Given the description of an element on the screen output the (x, y) to click on. 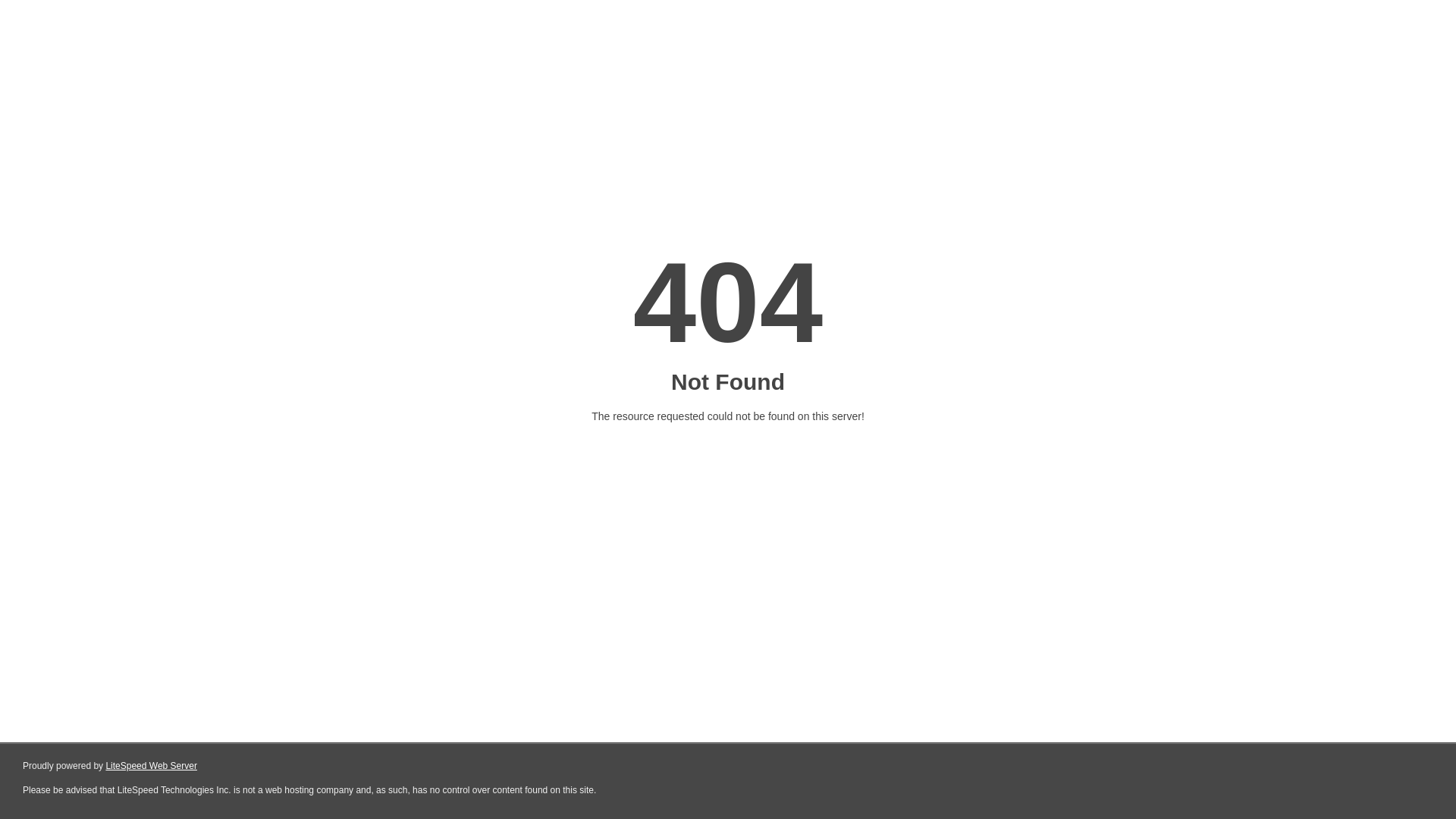
LiteSpeed Web Server Element type: text (151, 765)
